Given the description of an element on the screen output the (x, y) to click on. 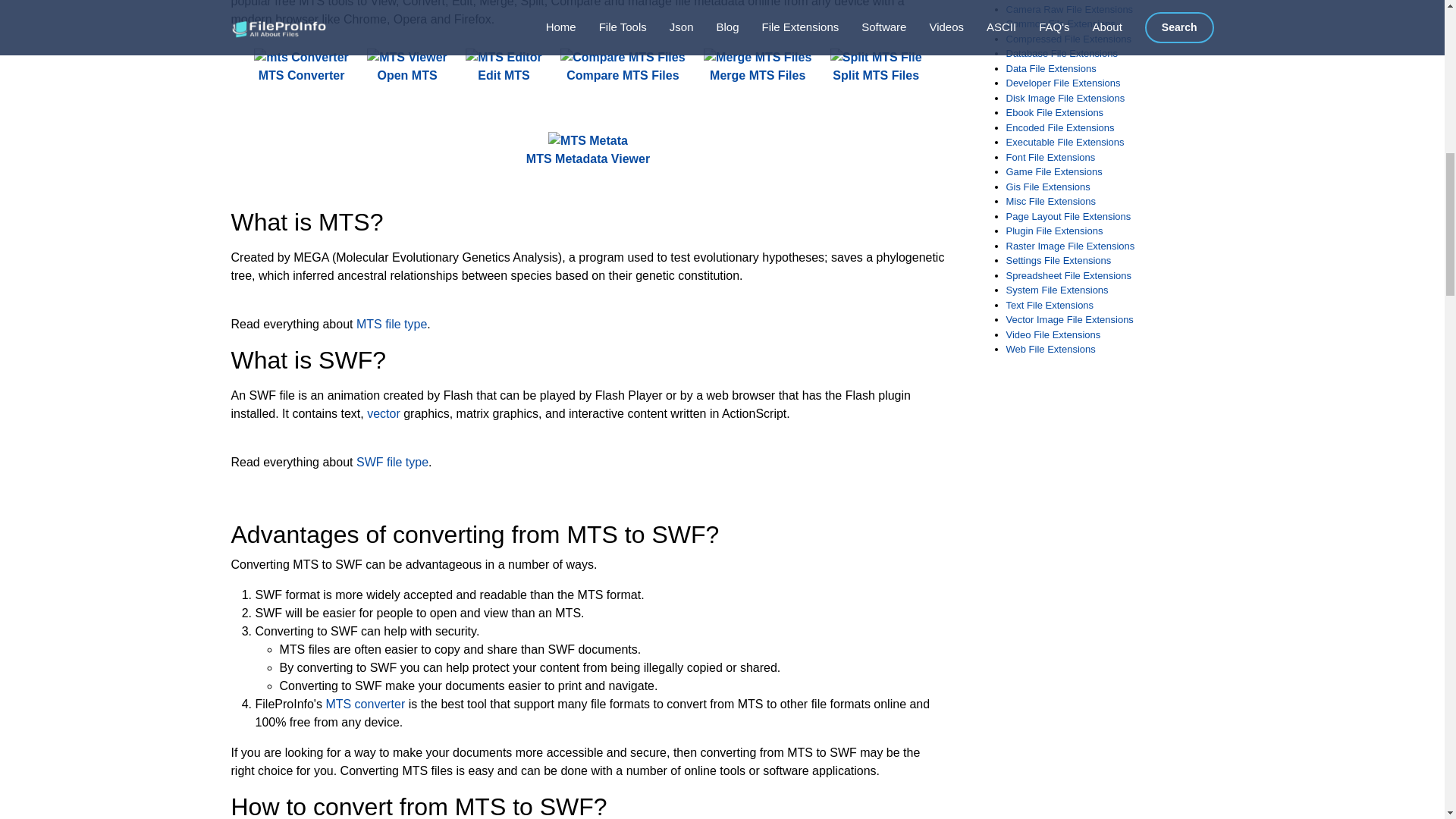
Open MTS (406, 66)
mts Converter online free (300, 57)
MTS converter (364, 703)
MTS Converter. (300, 66)
Compare MTS Files (622, 66)
MTS Viewer, open MTS file online and free. (406, 66)
MTS file type (391, 323)
Split MTS Files (875, 66)
SWF file type (392, 461)
MTS Metadata Viewer (587, 150)
